Given the description of an element on the screen output the (x, y) to click on. 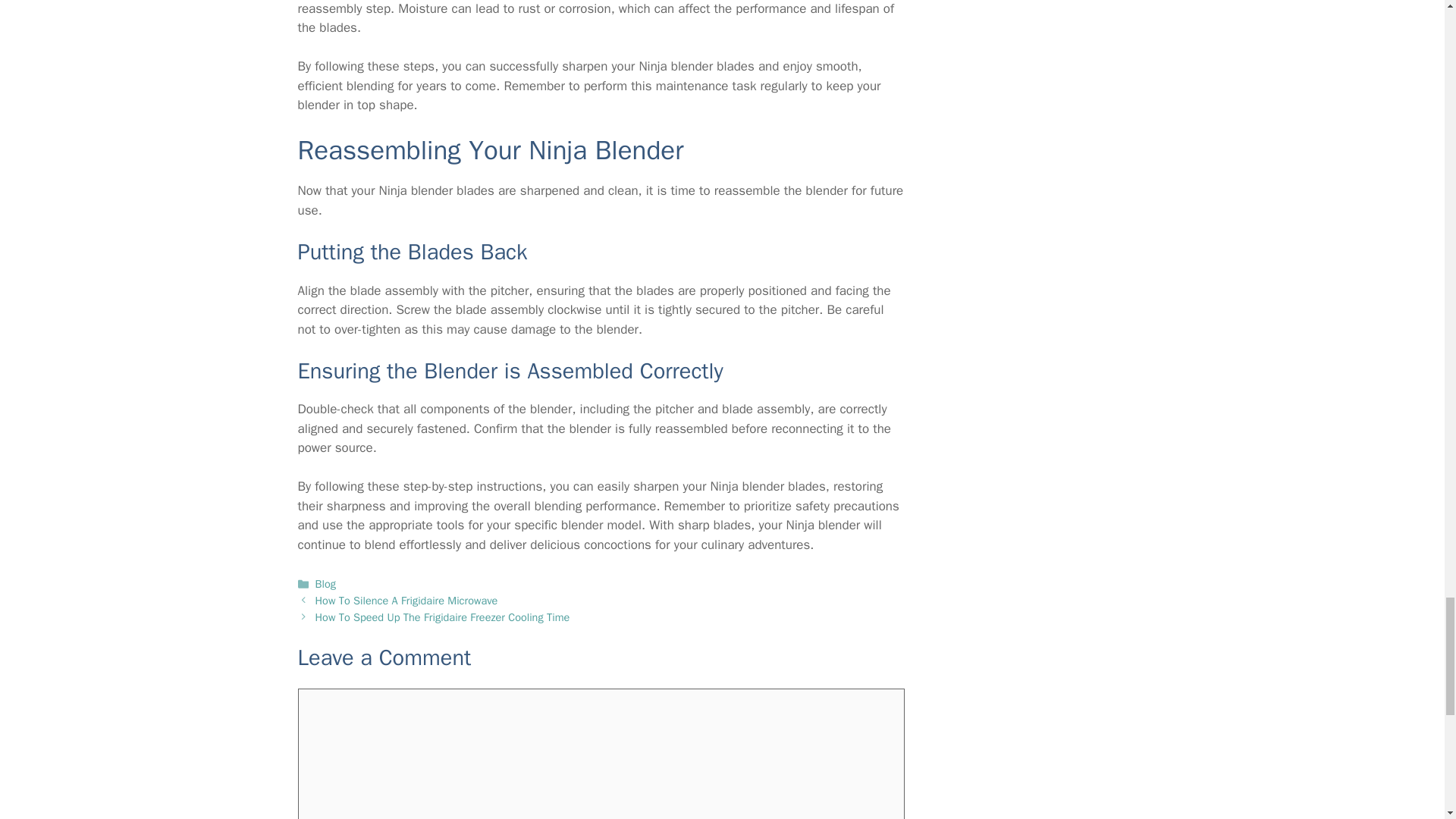
How To Silence A Frigidaire Microwave (406, 600)
Blog (325, 583)
How To Speed Up The Frigidaire Freezer Cooling Time (442, 617)
